Given the description of an element on the screen output the (x, y) to click on. 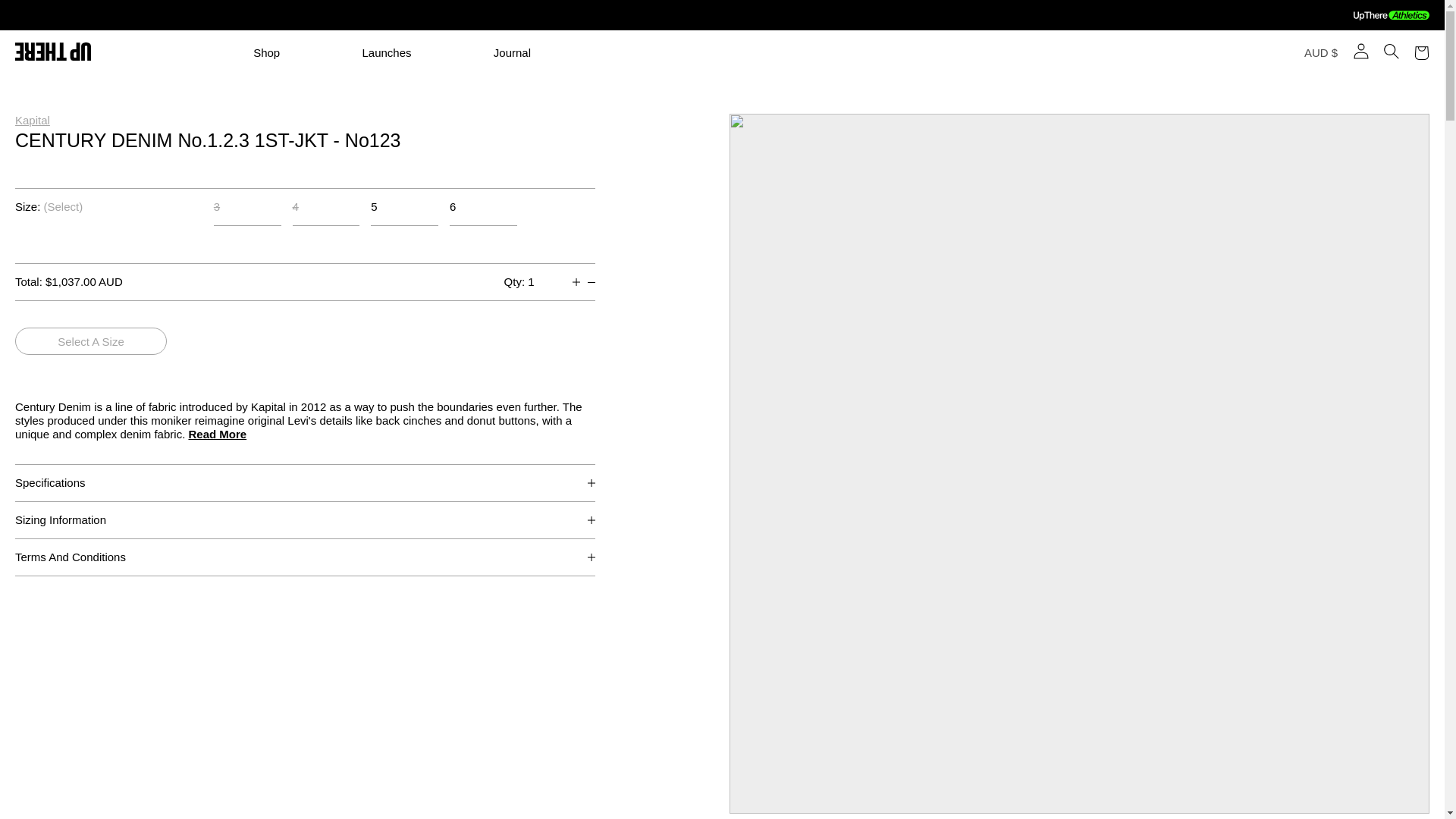
Select a size (90, 340)
Shop (305, 52)
1 (546, 281)
